Given the description of an element on the screen output the (x, y) to click on. 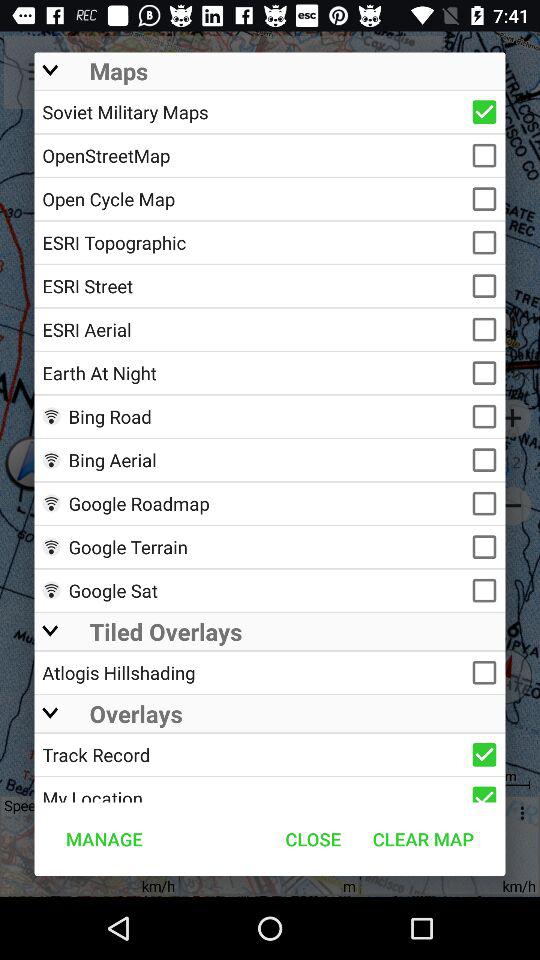
select the item next to the close (423, 838)
